Given the description of an element on the screen output the (x, y) to click on. 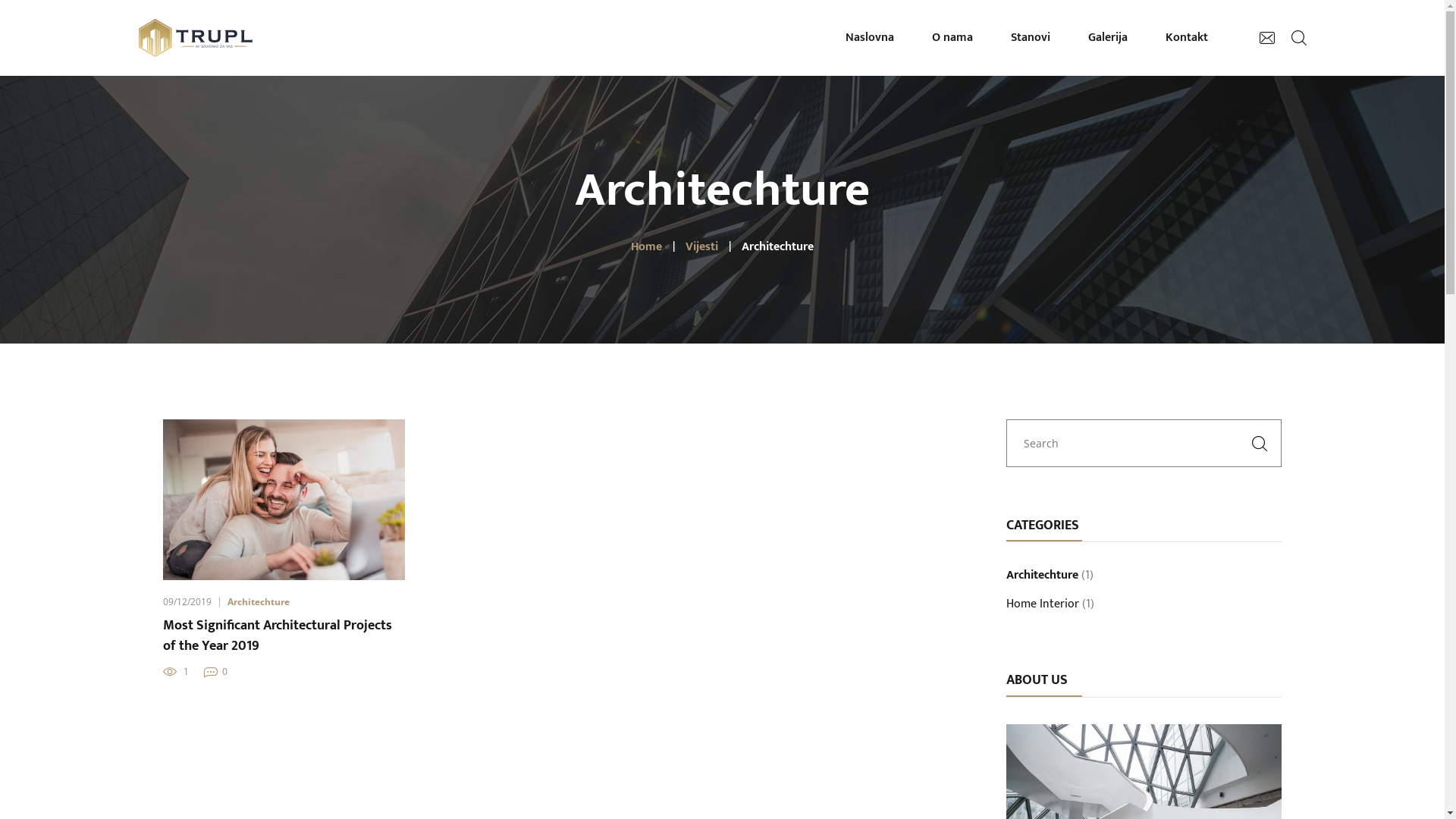
09/12/2019 Element type: text (187, 601)
Kontakt Element type: text (1186, 37)
O nama Element type: text (1043, 502)
Architechture Element type: text (1042, 580)
Naslovna Element type: text (764, 502)
Galerija Element type: text (1042, 529)
Naslovna Element type: text (869, 37)
Home Element type: text (646, 246)
O nama Element type: text (952, 37)
Vijesti Element type: text (701, 246)
MicroMedia Element type: text (410, 794)
Most Significant Architectural Projects of the Year 2019 Element type: text (283, 635)
Architechture Element type: text (258, 601)
Kontakt Element type: text (761, 556)
Stanovi Element type: text (759, 529)
Galerija Element type: text (1107, 37)
Stanovi Element type: text (1030, 37)
Home Interior Element type: text (1042, 608)
